Given the description of an element on the screen output the (x, y) to click on. 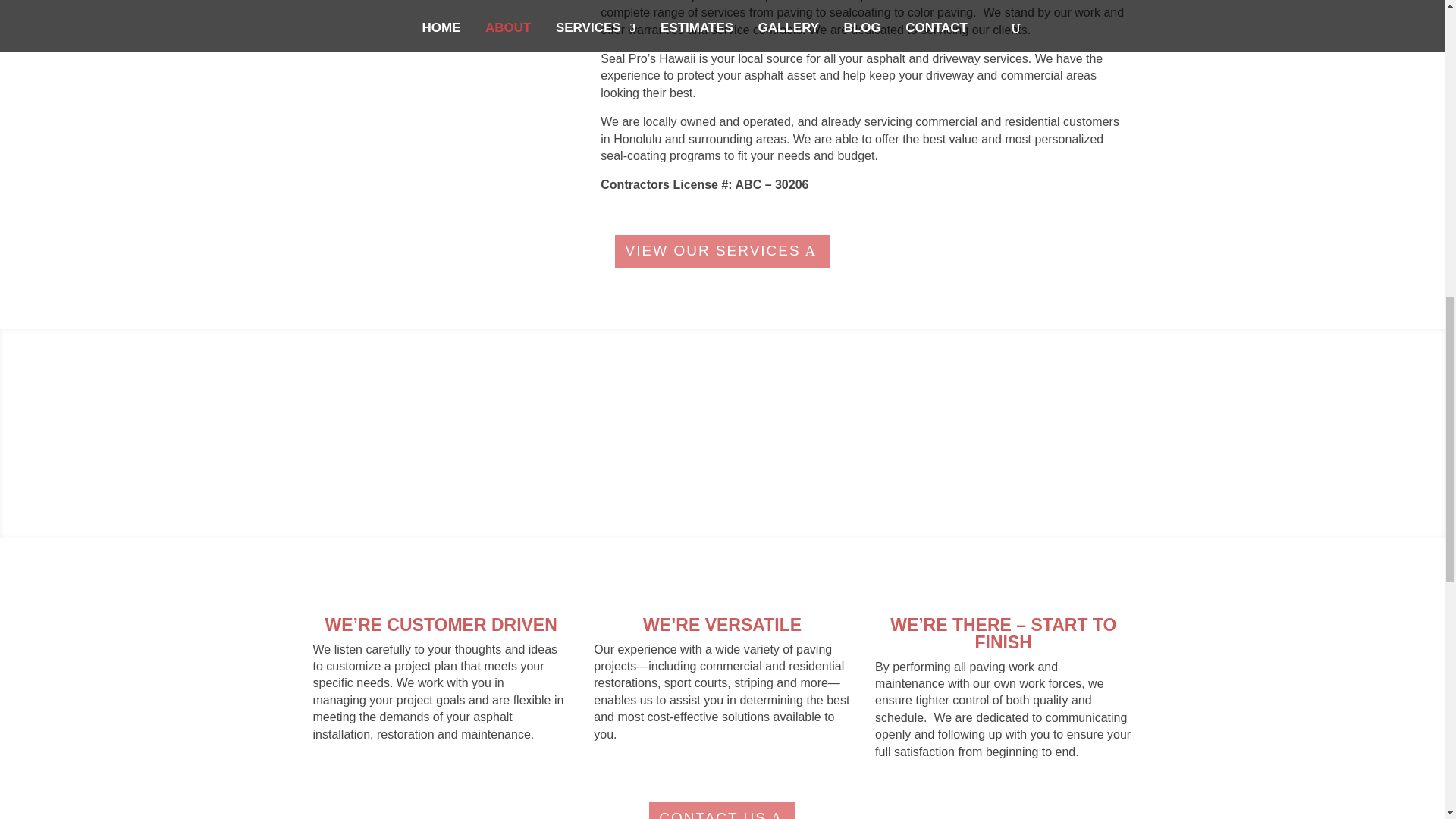
CONTACT US (721, 810)
VIEW OUR SERVICES (721, 251)
